Given the description of an element on the screen output the (x, y) to click on. 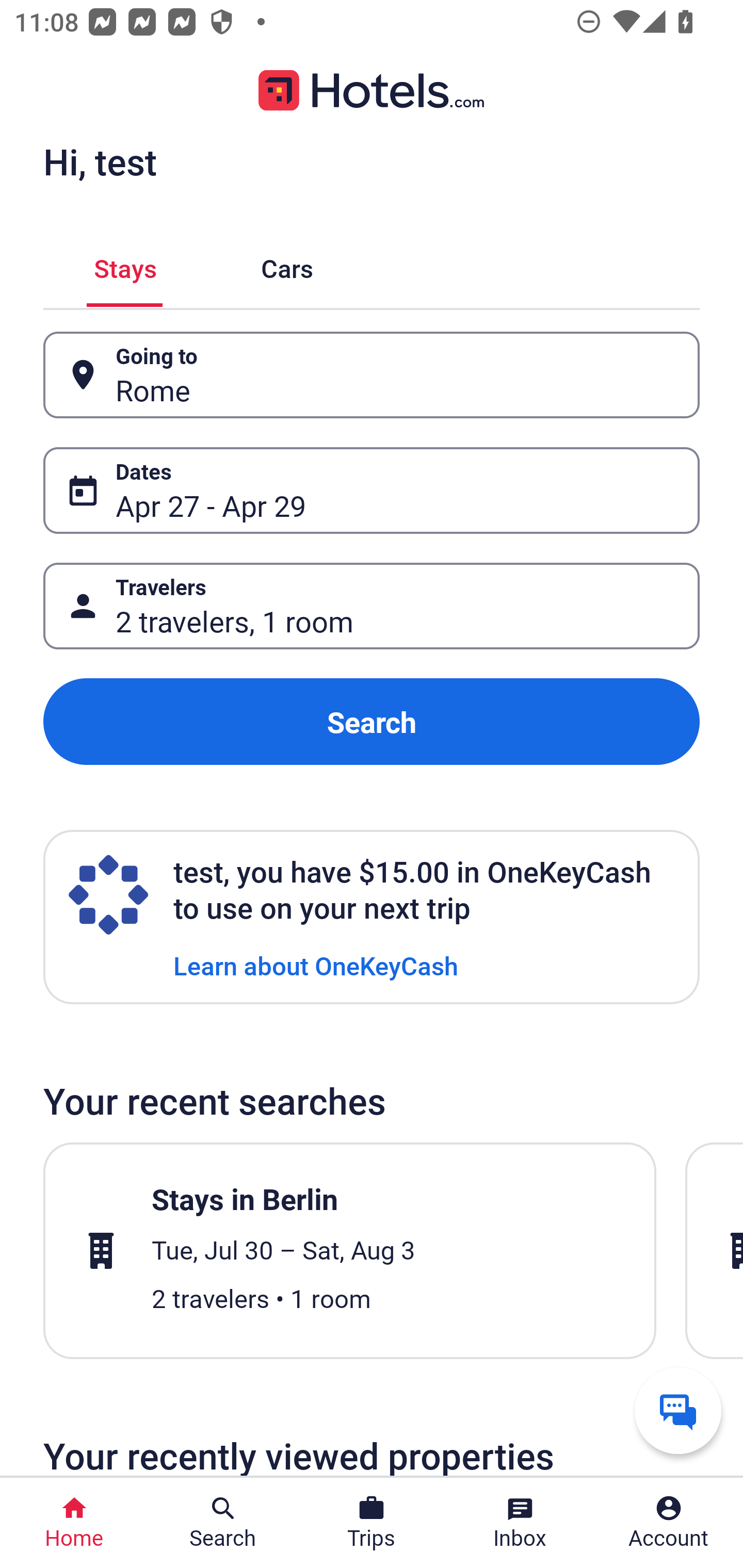
Hi, test (99, 161)
Cars (286, 265)
Going to Button Rome (371, 375)
Dates Button Apr 27 - Apr 29 (371, 489)
Travelers Button 2 travelers, 1 room (371, 605)
Search (371, 721)
Learn about OneKeyCash Learn about OneKeyCash Link (315, 964)
Get help from a virtual agent (677, 1410)
Search Search Button (222, 1522)
Trips Trips Button (371, 1522)
Inbox Inbox Button (519, 1522)
Account Profile. Button (668, 1522)
